Given the description of an element on the screen output the (x, y) to click on. 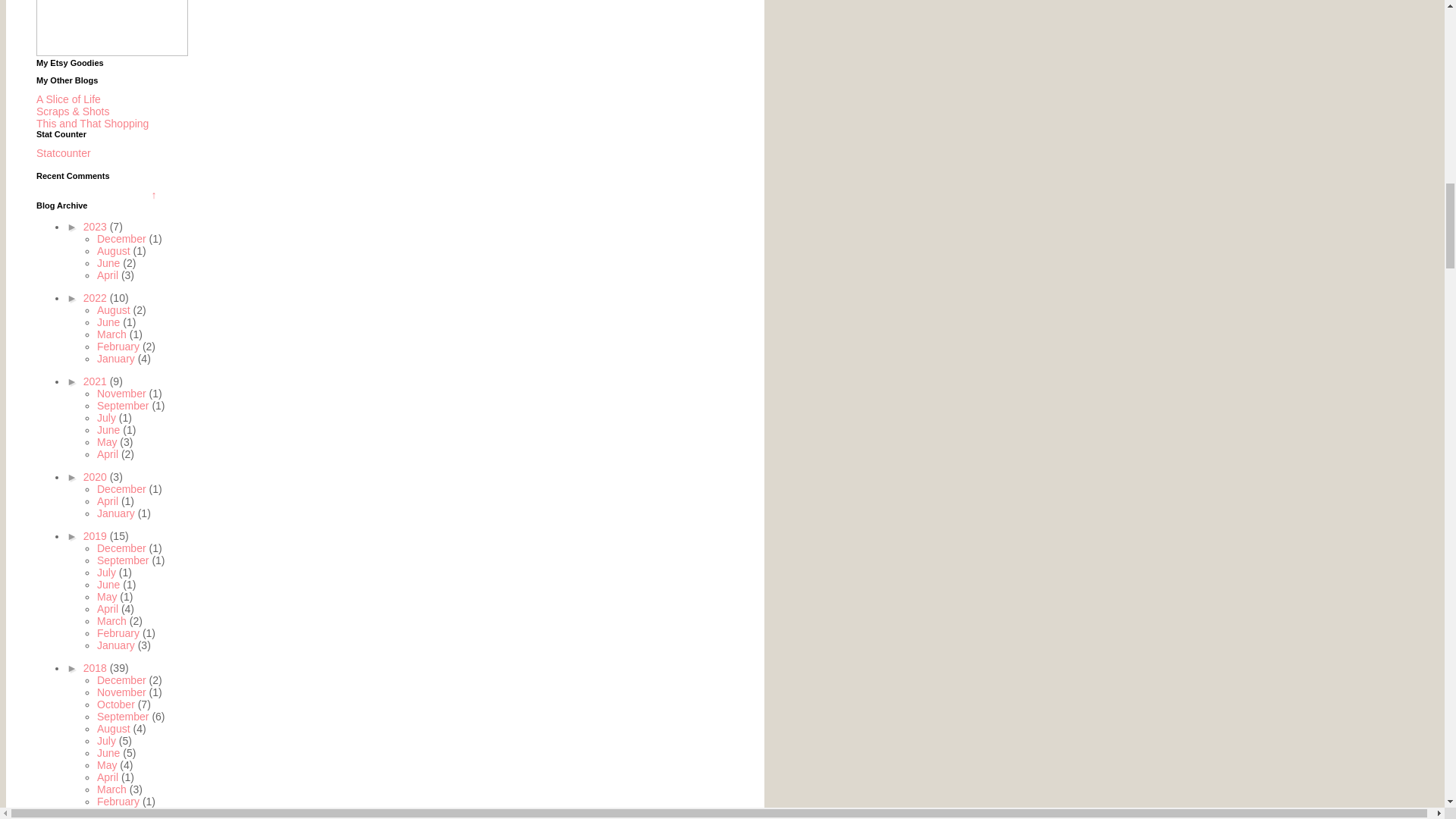
2023 (96, 226)
A Slice of Life (68, 99)
December (122, 238)
August (114, 250)
Statcounter (63, 152)
April (108, 275)
This and That Shopping (92, 123)
June (109, 263)
